Given the description of an element on the screen output the (x, y) to click on. 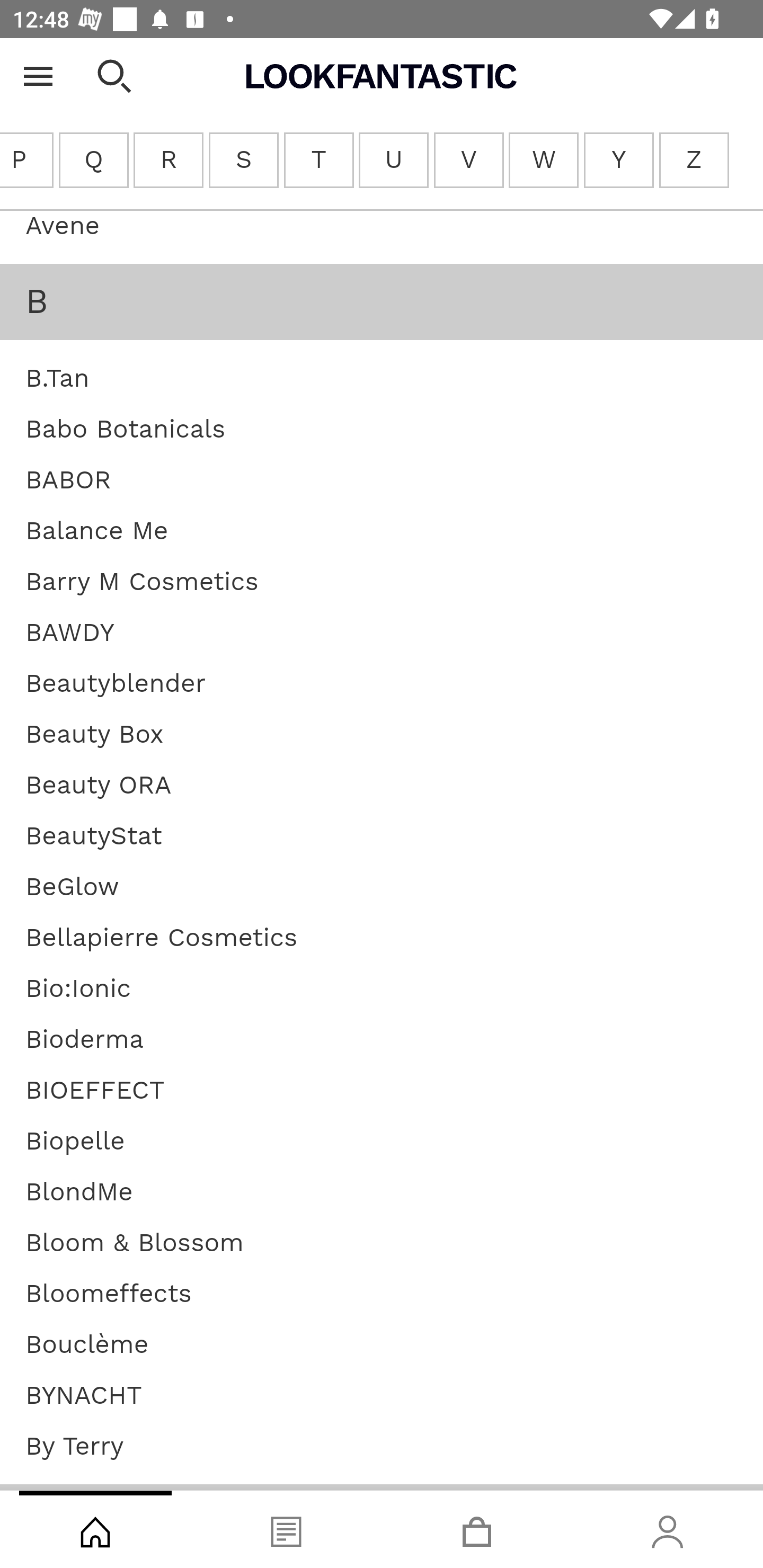
P (27, 160)
Q (92, 160)
R (169, 160)
S (244, 160)
T (318, 160)
U (392, 160)
V (467, 160)
W (543, 160)
Y (618, 160)
Z (693, 160)
Avene (62, 227)
B.Tan (57, 379)
Babo Botanicals (125, 430)
BABOR (68, 481)
Balance Me (96, 531)
Barry M Cosmetics (142, 582)
BAWDY (69, 633)
Beautyblender (115, 684)
Beauty Box (94, 735)
Beauty ORA (98, 786)
BeautyStat (93, 836)
BeGlow (72, 887)
Bellapierre Cosmetics (162, 938)
Bio:Ionic (78, 989)
Bioderma (84, 1040)
BIOEFFECT (95, 1091)
Biopelle (75, 1142)
BlondMe (79, 1192)
Bloom & Blossom (134, 1243)
Bloomeffects (108, 1294)
Bouclème (87, 1345)
BYNACHT (84, 1396)
By Terry (74, 1446)
Shop, tab, 1 of 4 (95, 1529)
Blog, tab, 2 of 4 (285, 1529)
Basket, tab, 3 of 4 (476, 1529)
Account, tab, 4 of 4 (667, 1529)
